Given the description of an element on the screen output the (x, y) to click on. 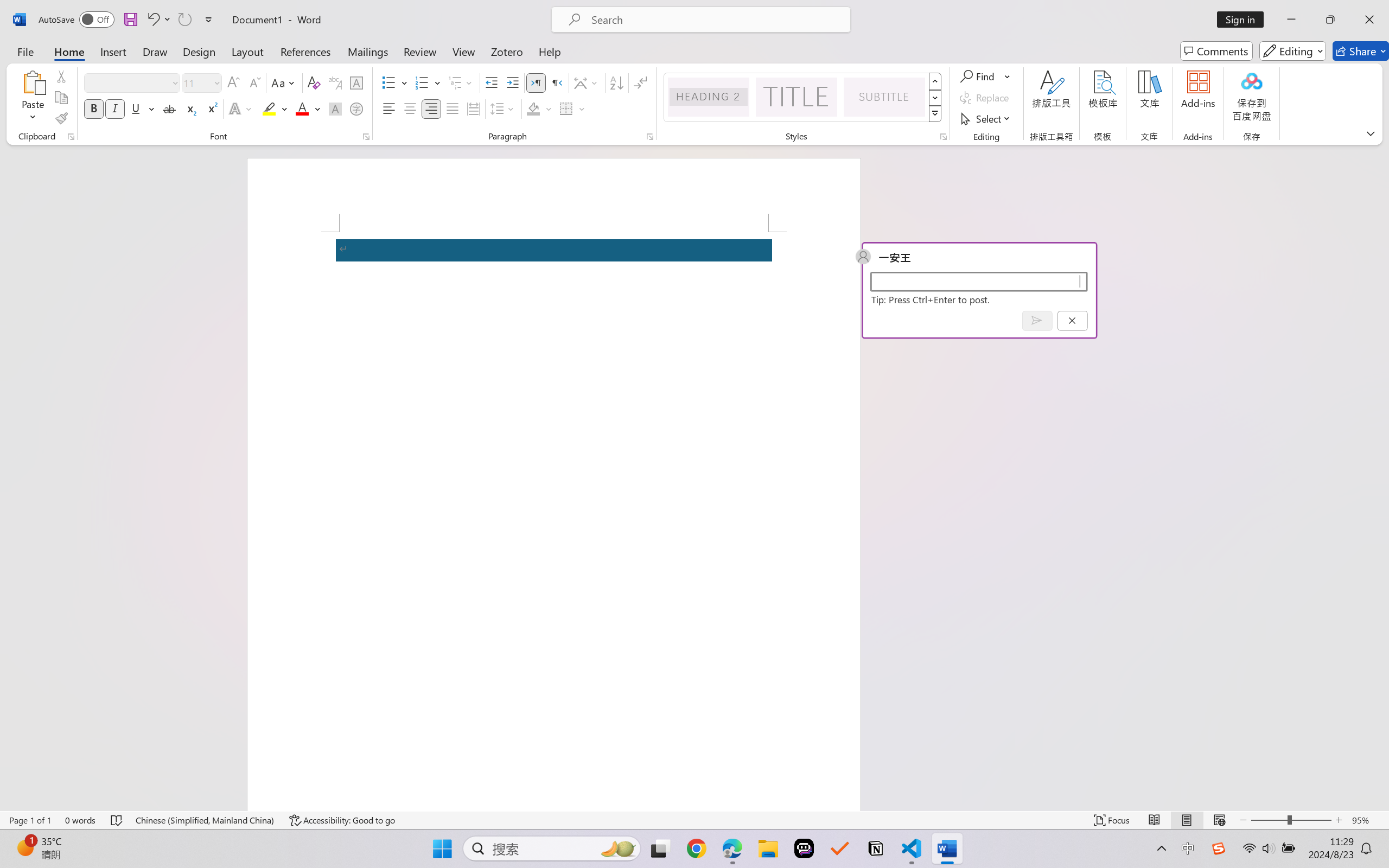
Cancel (1072, 320)
Language Chinese (Simplified, Mainland China) (205, 819)
Start a conversation (978, 281)
